Given the description of an element on the screen output the (x, y) to click on. 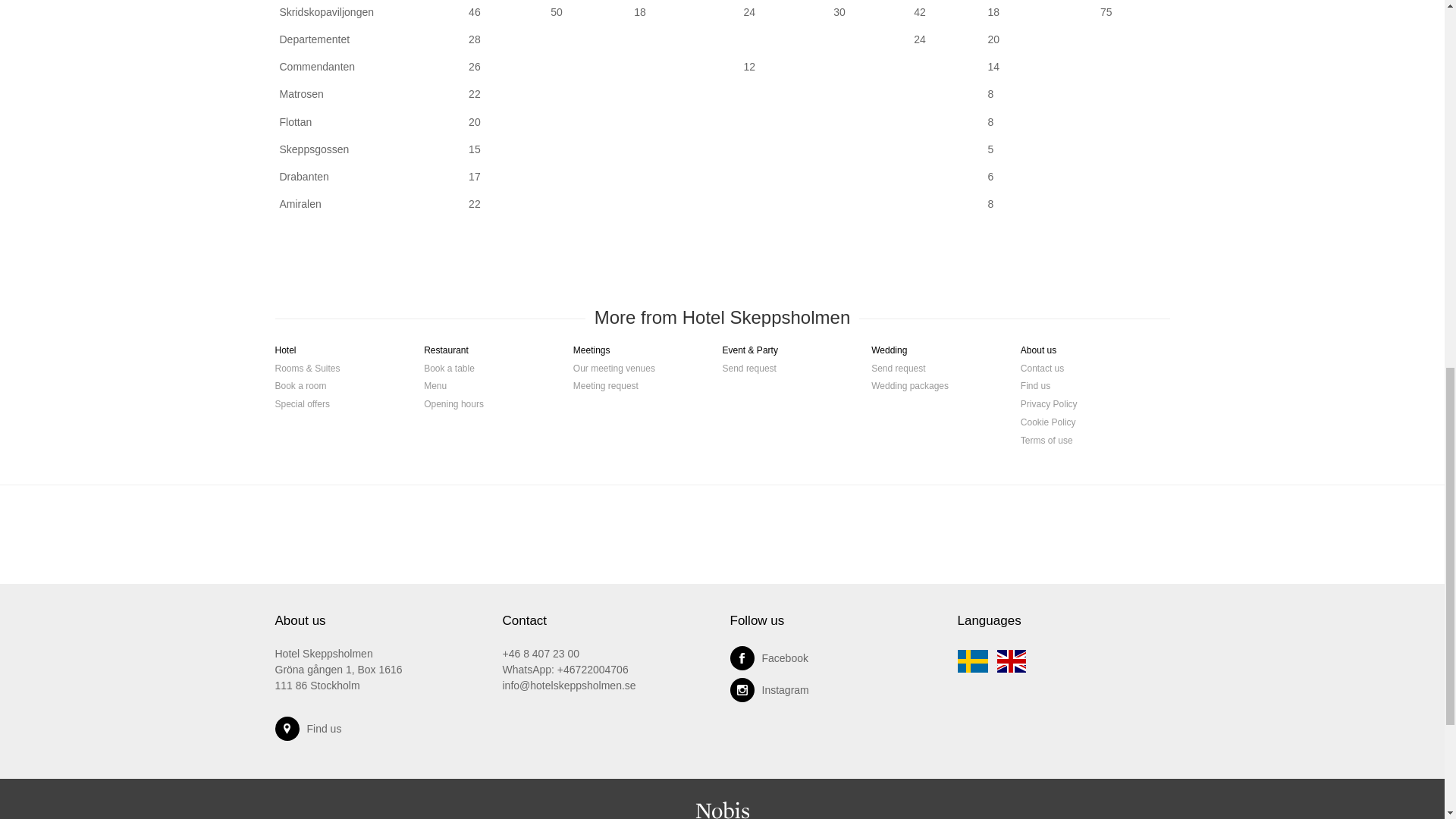
Send request (749, 372)
Book a room (300, 390)
Special offers (302, 408)
Restaurant (445, 354)
Wedding packages (909, 390)
Our meeting venues (614, 372)
Menu (434, 390)
Wedding (888, 354)
Meetings (591, 354)
Hotel (285, 354)
